Given the description of an element on the screen output the (x, y) to click on. 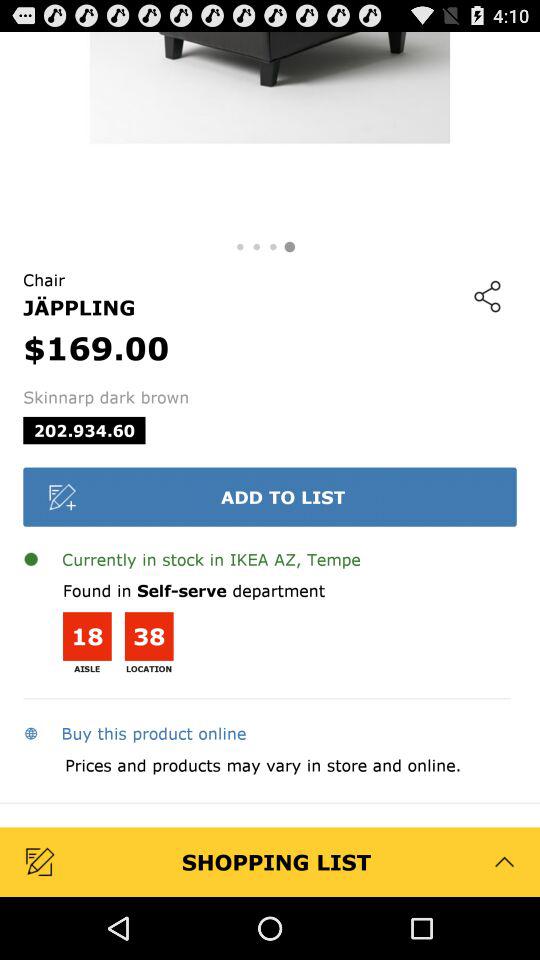
select the app above prices and products (134, 733)
